Given the description of an element on the screen output the (x, y) to click on. 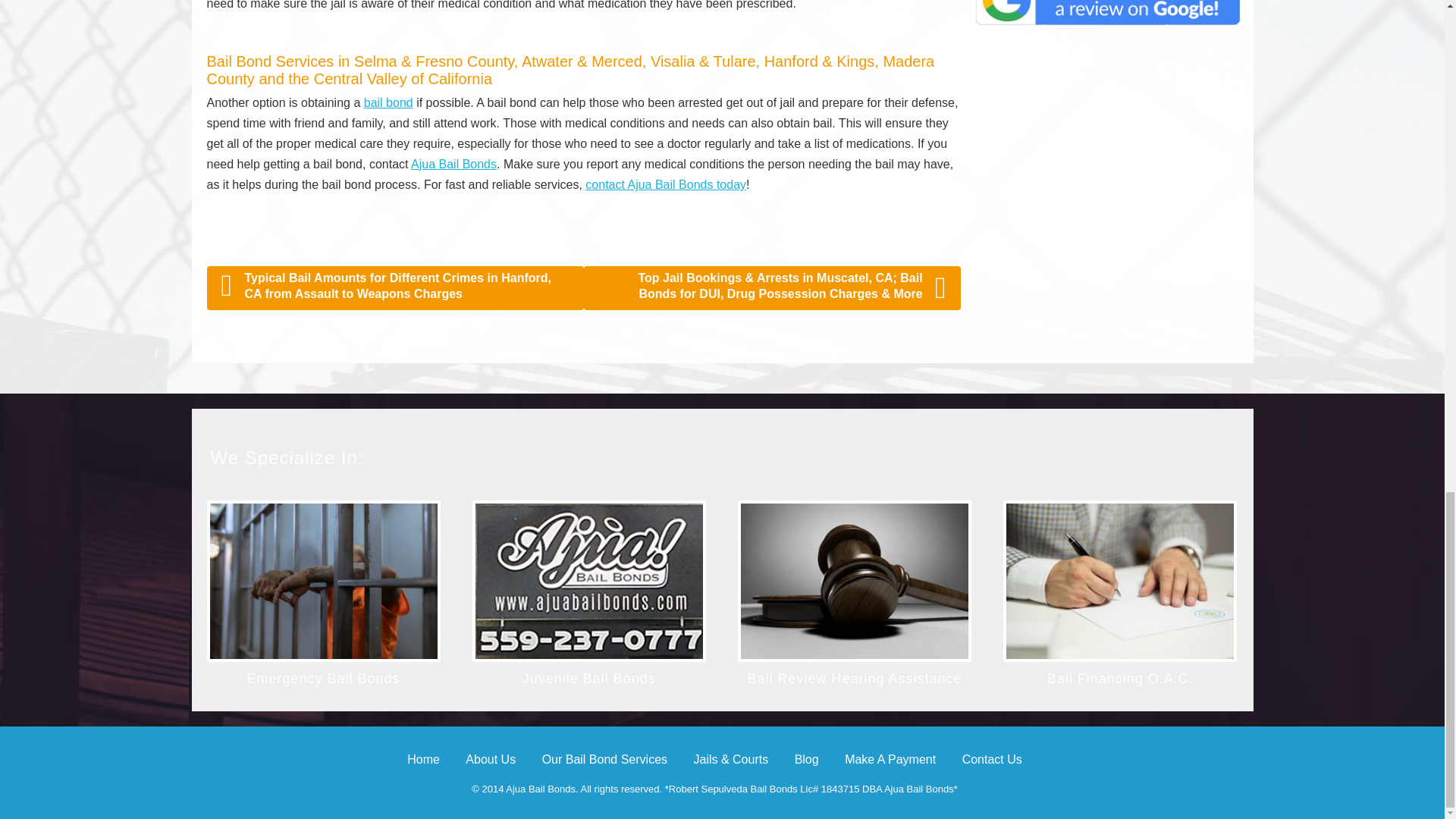
Ajua Bail Bonds (453, 164)
bail bond (388, 102)
contact Ajua Bail Bonds today (665, 184)
